Given the description of an element on the screen output the (x, y) to click on. 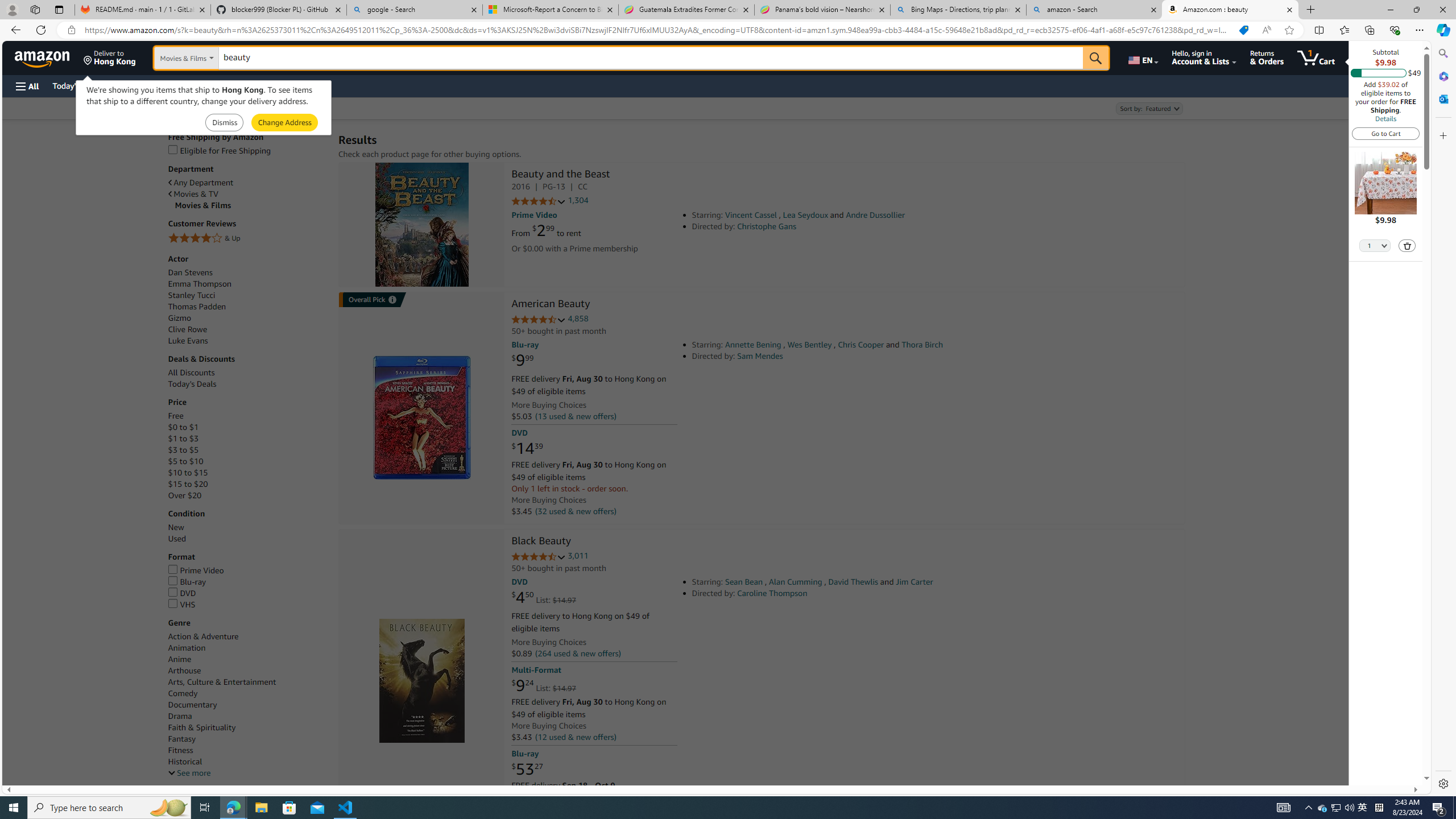
Arthouse (183, 670)
Registry (205, 85)
Luke Evans (247, 340)
4.7 out of 5 stars (538, 557)
Search Amazon (650, 57)
Skip to main search results (50, 780)
Today's Deals (191, 383)
Thora Birch (922, 344)
4 Stars & Up (247, 238)
All Discounts (247, 372)
Movies & TV (192, 194)
